Given the description of an element on the screen output the (x, y) to click on. 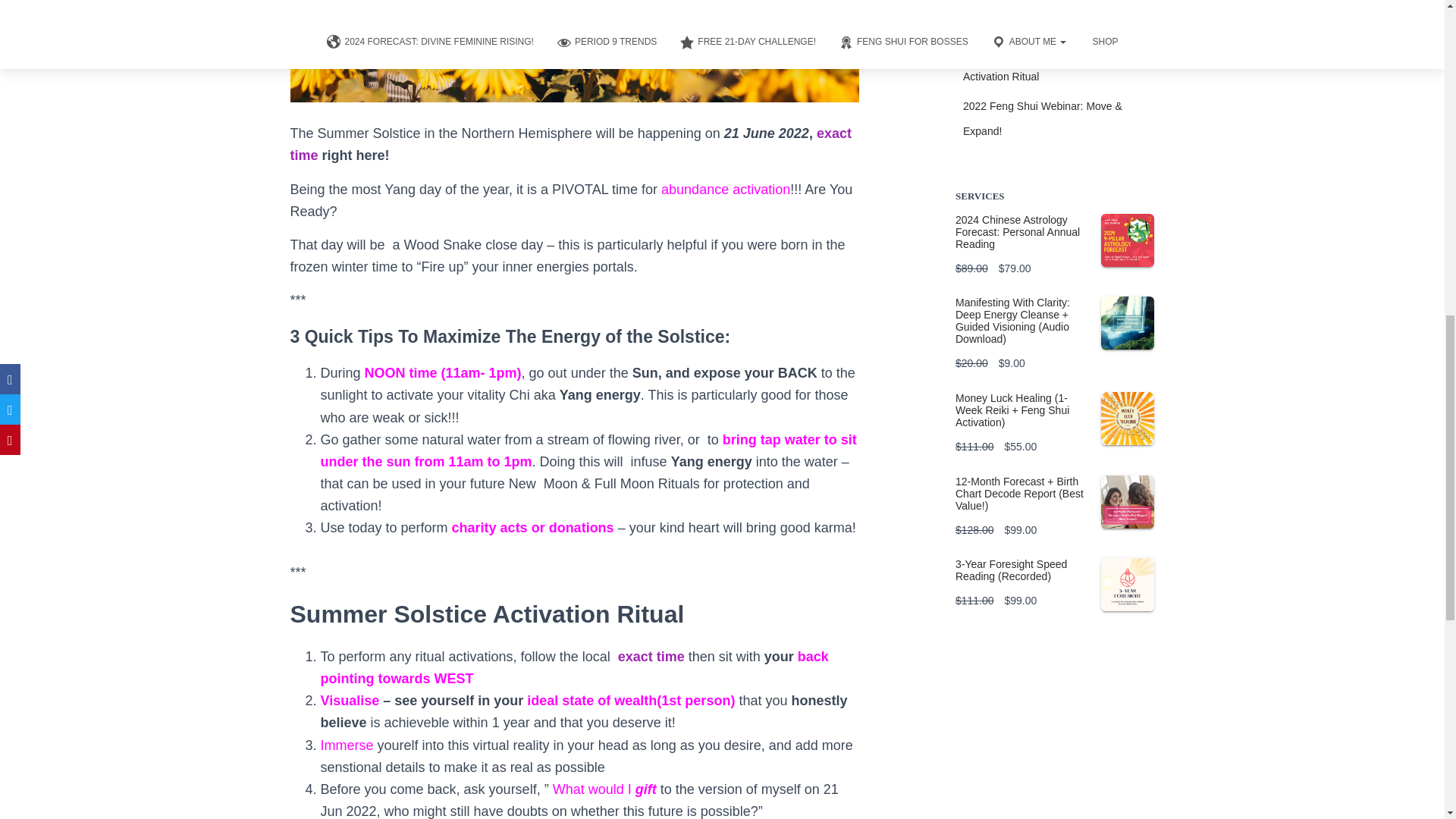
exact time (569, 144)
2023 Feng Shui: Quick Preview for Water Rabbit Year (1044, 13)
2024 Chinese Astrology Forecast: Personal Annual Reading (1054, 231)
exact time (650, 656)
